Given the description of an element on the screen output the (x, y) to click on. 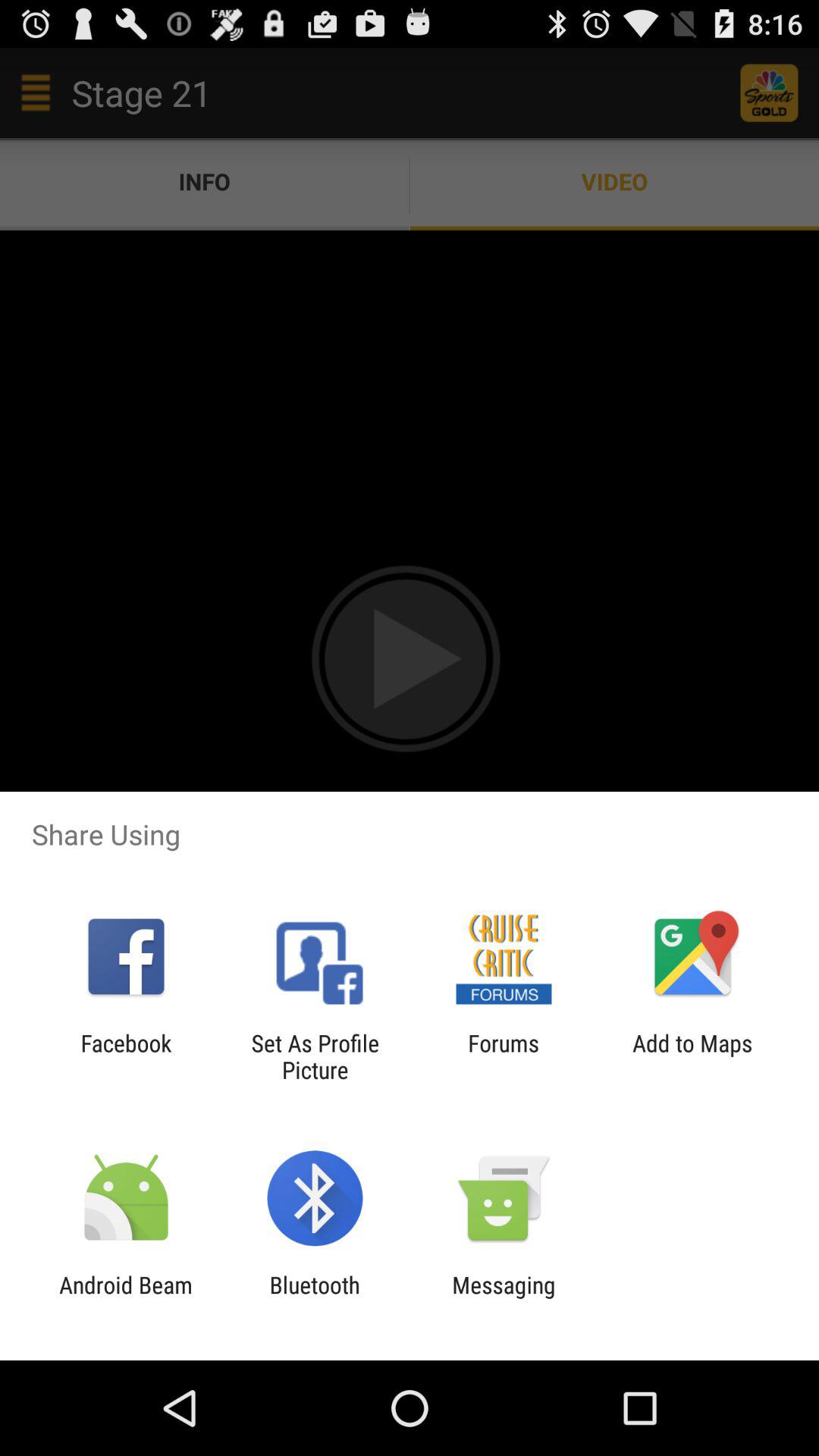
click add to maps (692, 1056)
